Given the description of an element on the screen output the (x, y) to click on. 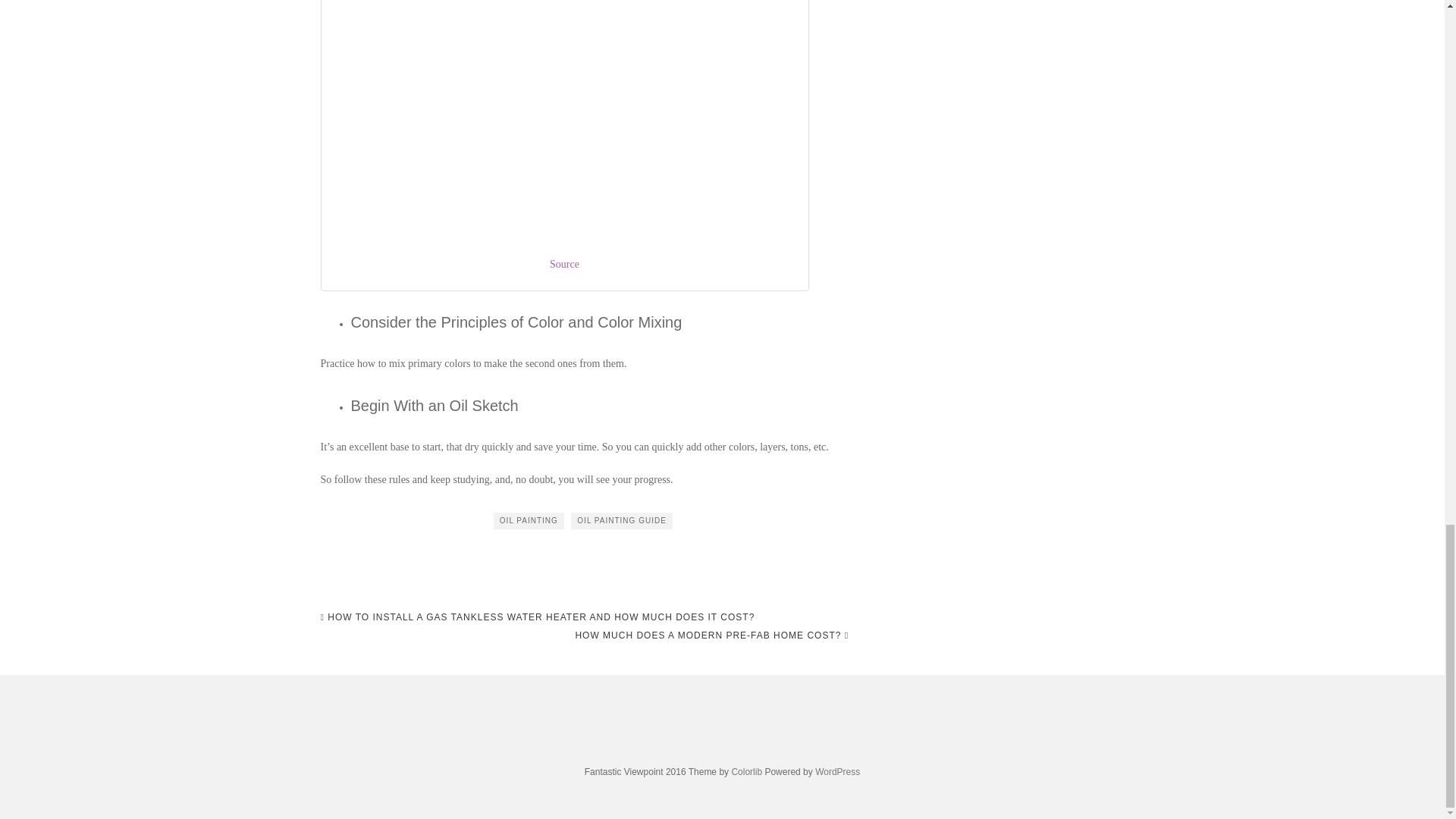
HOW MUCH DOES A MODERN PRE-FAB HOME COST? (711, 635)
Source (564, 264)
OIL PAINTING (528, 520)
OIL PAINTING GUIDE (620, 520)
